Given the description of an element on the screen output the (x, y) to click on. 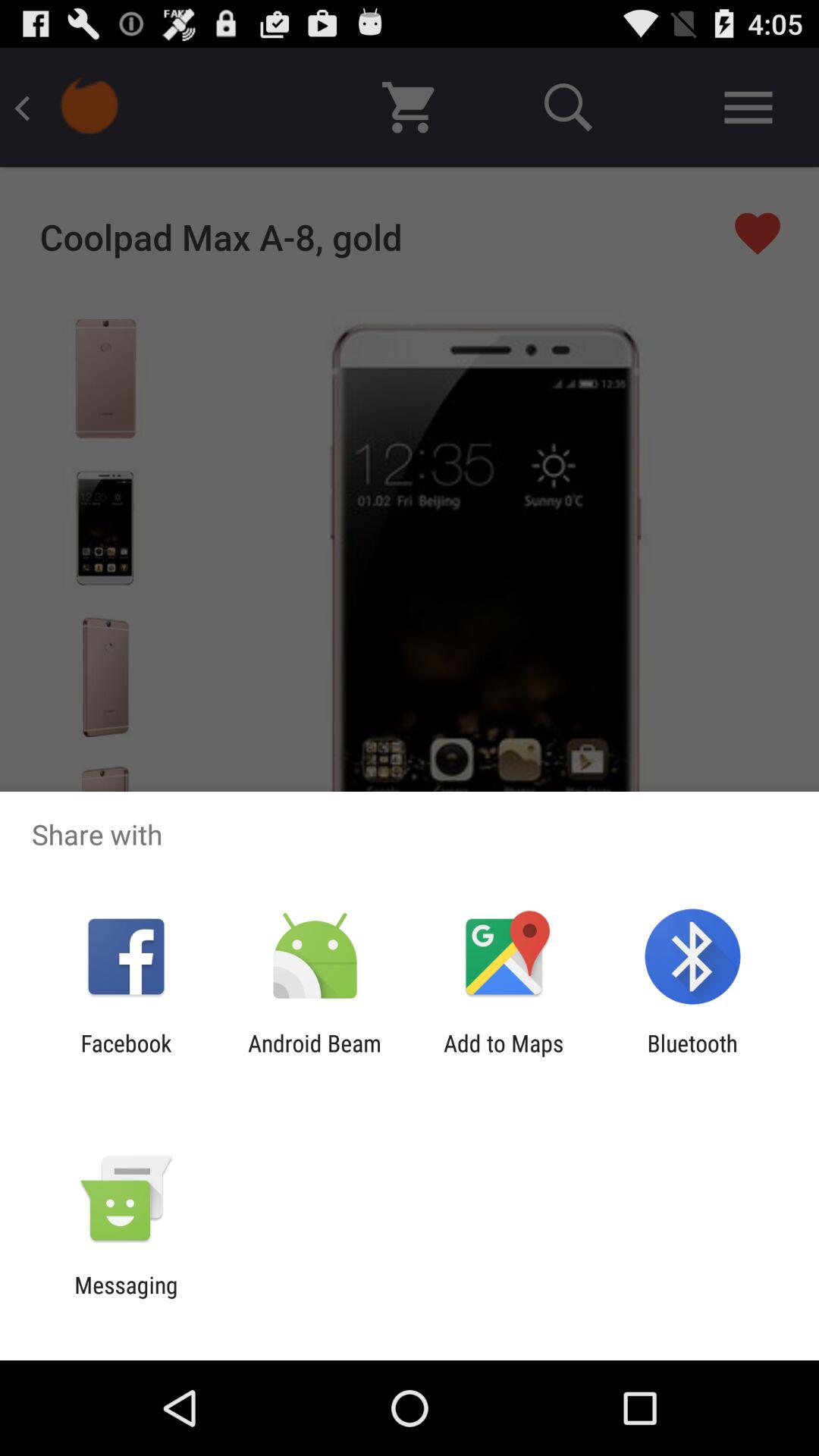
jump until facebook (125, 1056)
